Given the description of an element on the screen output the (x, y) to click on. 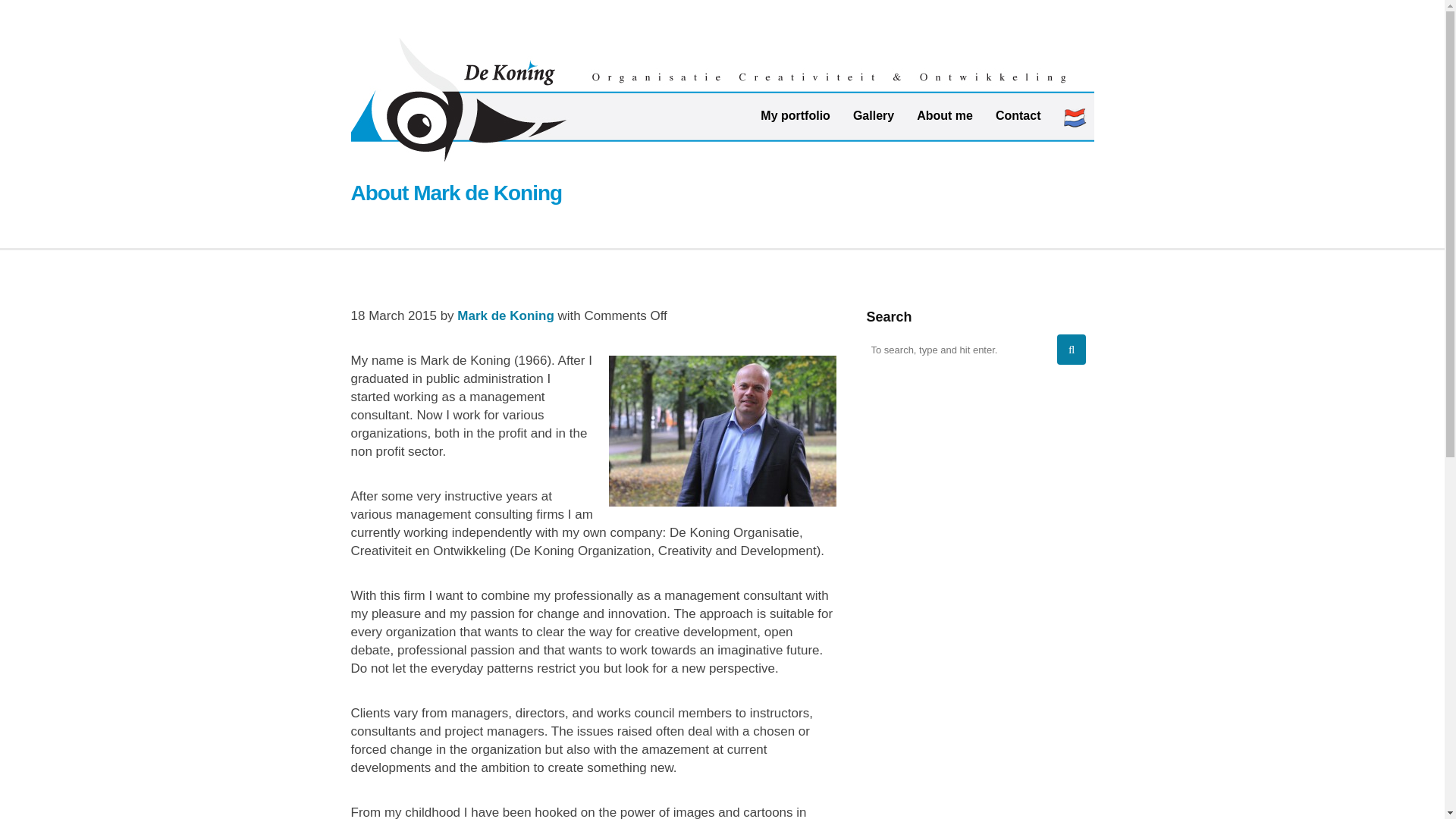
Mark de Koning (505, 315)
About me (944, 115)
My portfolio (794, 115)
Organisatiecreativiteit (721, 102)
Organisatiecreativiteit (721, 99)
Contact (1018, 115)
Gallery (873, 115)
